Given the description of an element on the screen output the (x, y) to click on. 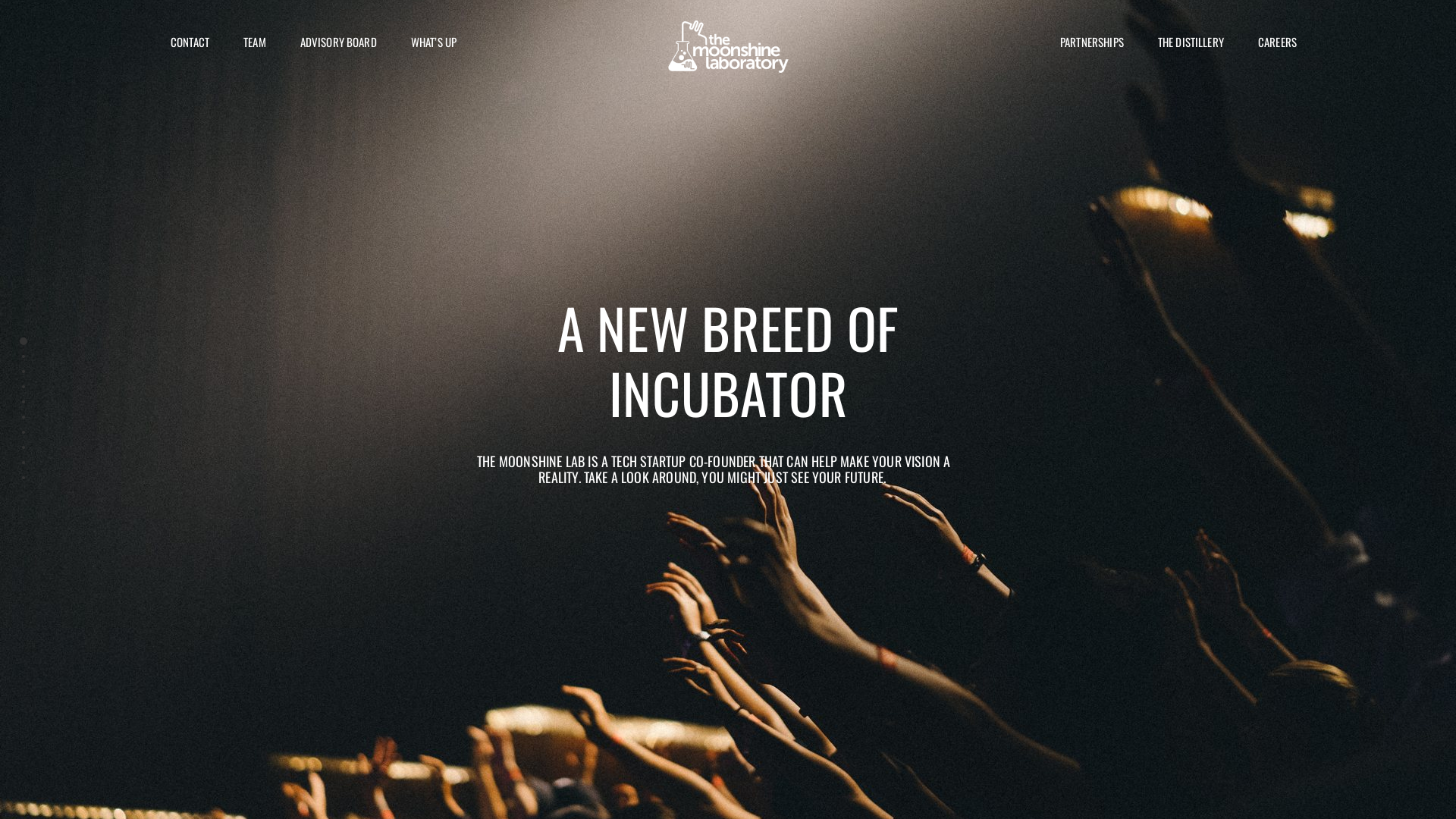
TEAM Element type: text (249, 45)
THE DISTILLERY Element type: text (1184, 45)
CAREERS Element type: text (1271, 45)
PARTNERSHIPS Element type: text (1085, 45)
ADVISORY BOARD Element type: text (332, 45)
CONTACT Element type: text (184, 45)
